Given the description of an element on the screen output the (x, y) to click on. 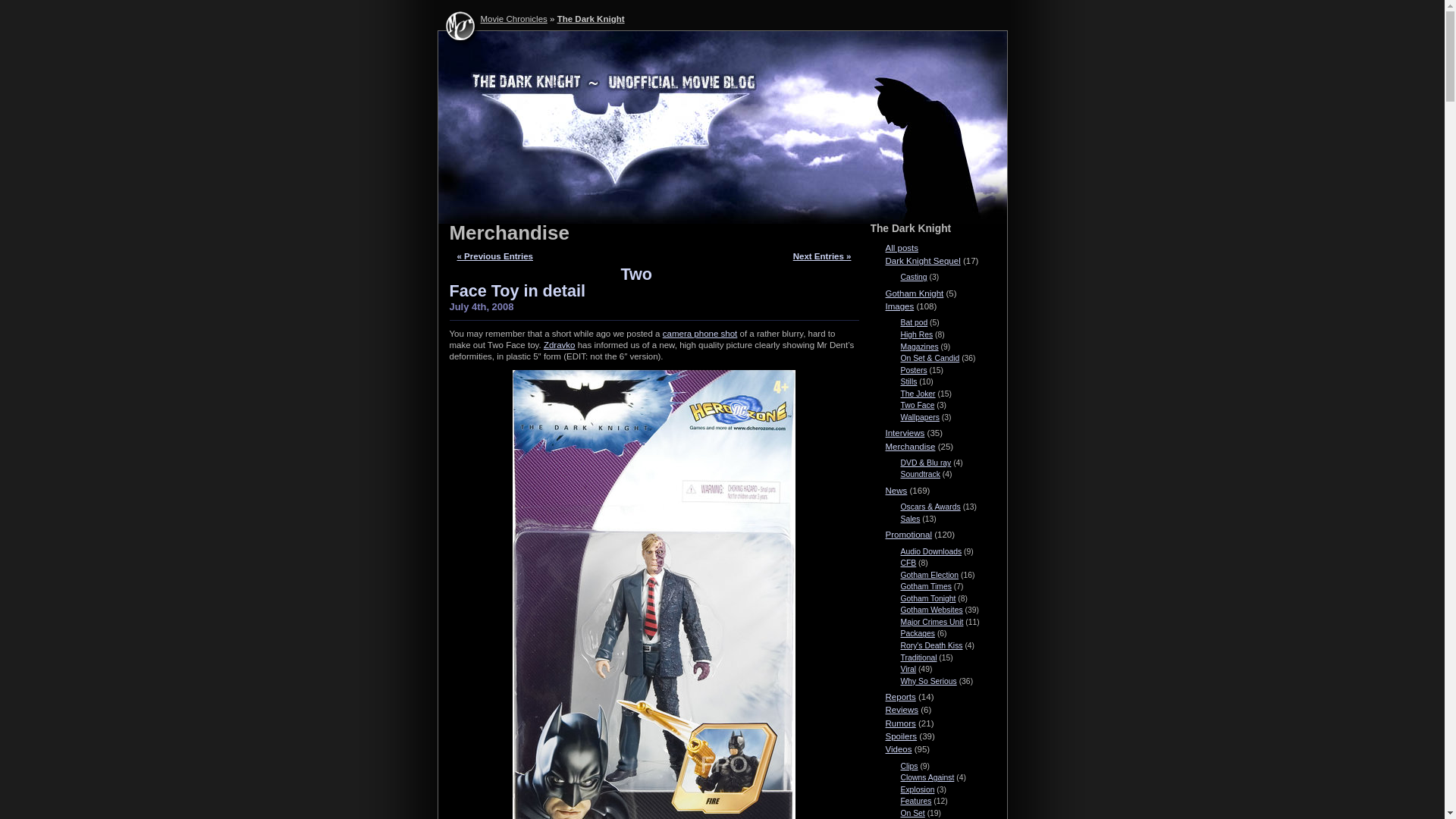
Two Face Toy in detail (550, 282)
Zdravko (559, 344)
The Dark Knight - Movie Chronicles (722, 127)
Movie Chronicles (513, 18)
The Dark Knight (590, 18)
